Given the description of an element on the screen output the (x, y) to click on. 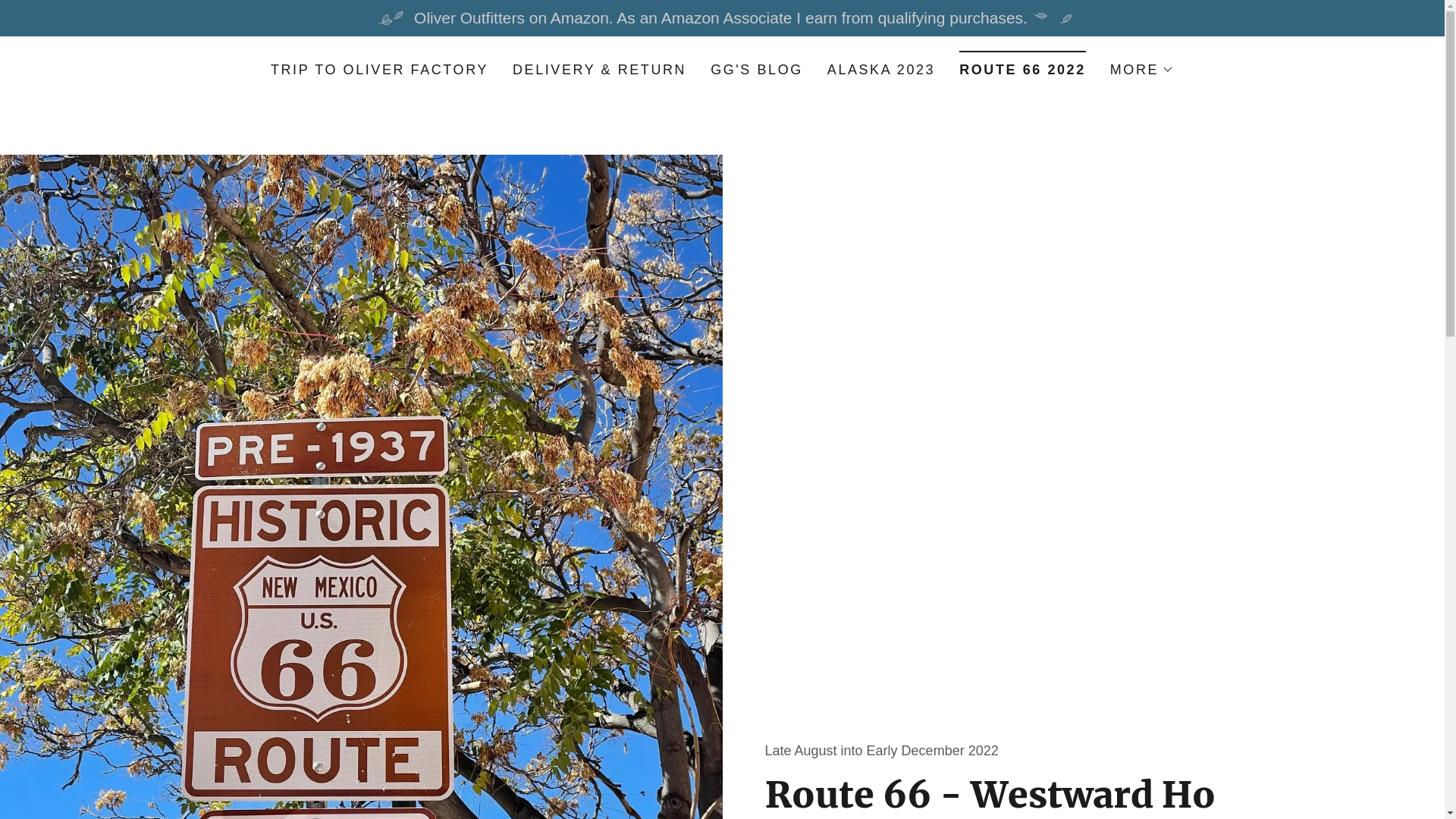
DELIVERY & RETURN Element type: text (599, 69)
GG'S BLOG Element type: text (756, 69)
MORE Element type: text (1141, 69)
TRIP TO OLIVER FACTORY Element type: text (379, 69)
ALASKA 2023 Element type: text (880, 69)
ROUTE 66 2022 Element type: text (1022, 64)
